Given the description of an element on the screen output the (x, y) to click on. 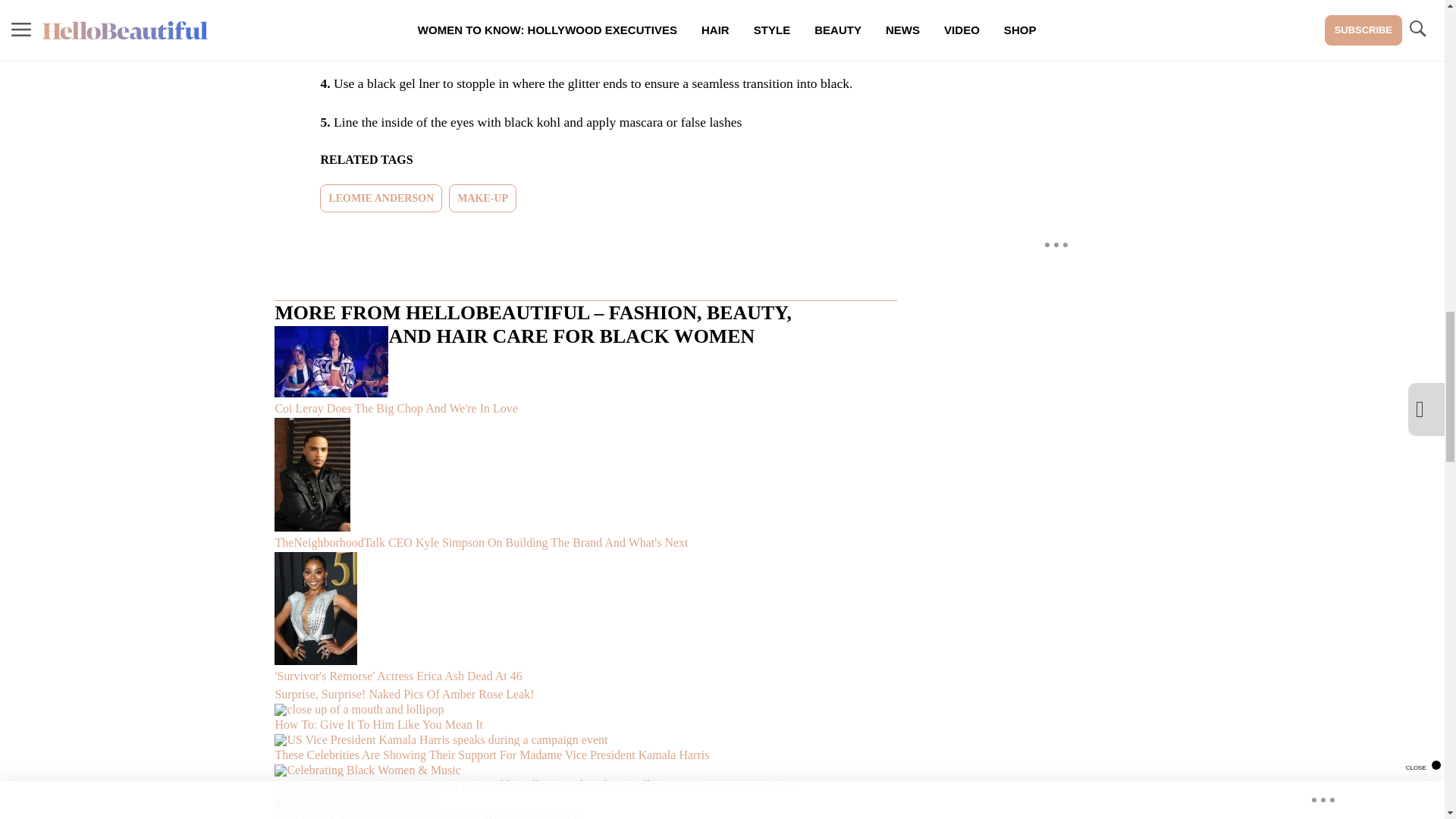
Coi Leray Does The Big Chop And We're In Love (585, 371)
MAKE-UP (482, 198)
LEOMIE ANDERSON (381, 198)
'Survivor's Remorse' Actress Erica Ash Dead At 46 (585, 618)
How To: Give It To Him Like You Mean It (585, 718)
Angel Reese Turns Into Mush After Usher Whispers In Her Ear (585, 806)
Surprise, Surprise! Naked Pics Of Amber Rose Leak! (585, 694)
